Given the description of an element on the screen output the (x, y) to click on. 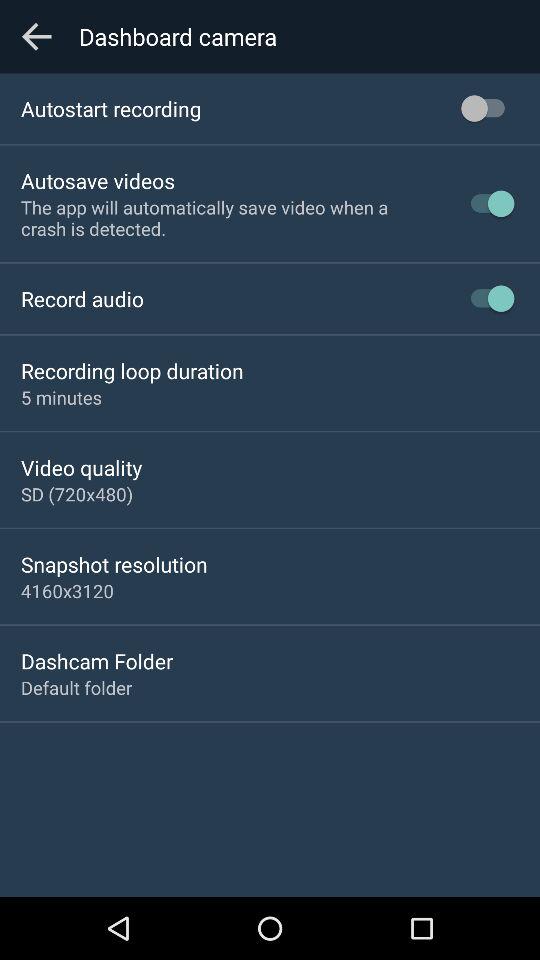
click the item above video quality app (61, 397)
